Given the description of an element on the screen output the (x, y) to click on. 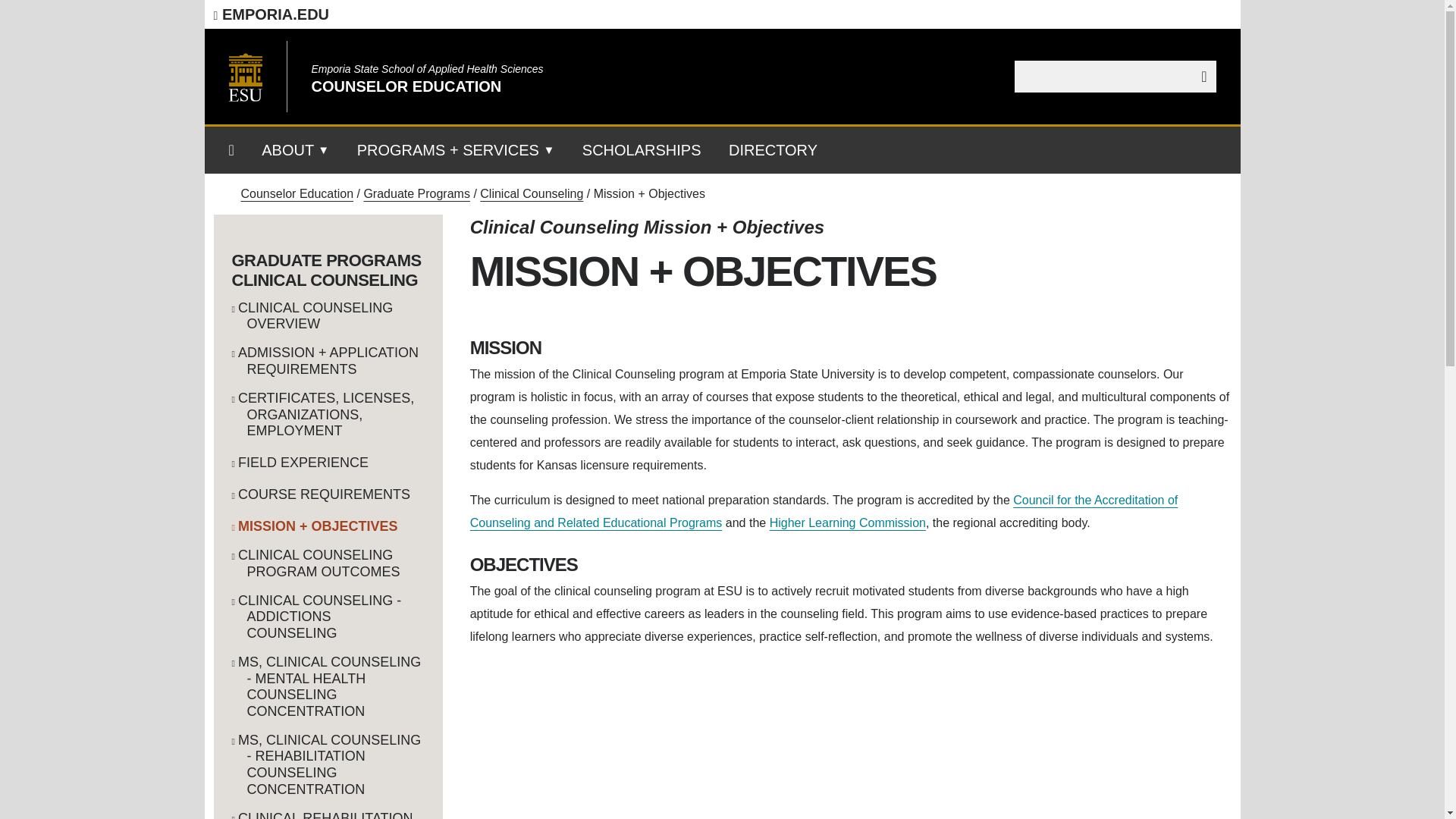
CLINICAL COUNSELING OVERVIEW (328, 316)
Counselor Education (297, 193)
Search (1198, 76)
CLINICAL COUNSELING PROGRAM OUTCOMES (328, 563)
DIRECTORY (772, 155)
Emporia State School of Applied Health Sciences (427, 69)
CLINICAL COUNSELING - ADDICTIONS COUNSELING (328, 617)
Search (1198, 76)
